Given the description of an element on the screen output the (x, y) to click on. 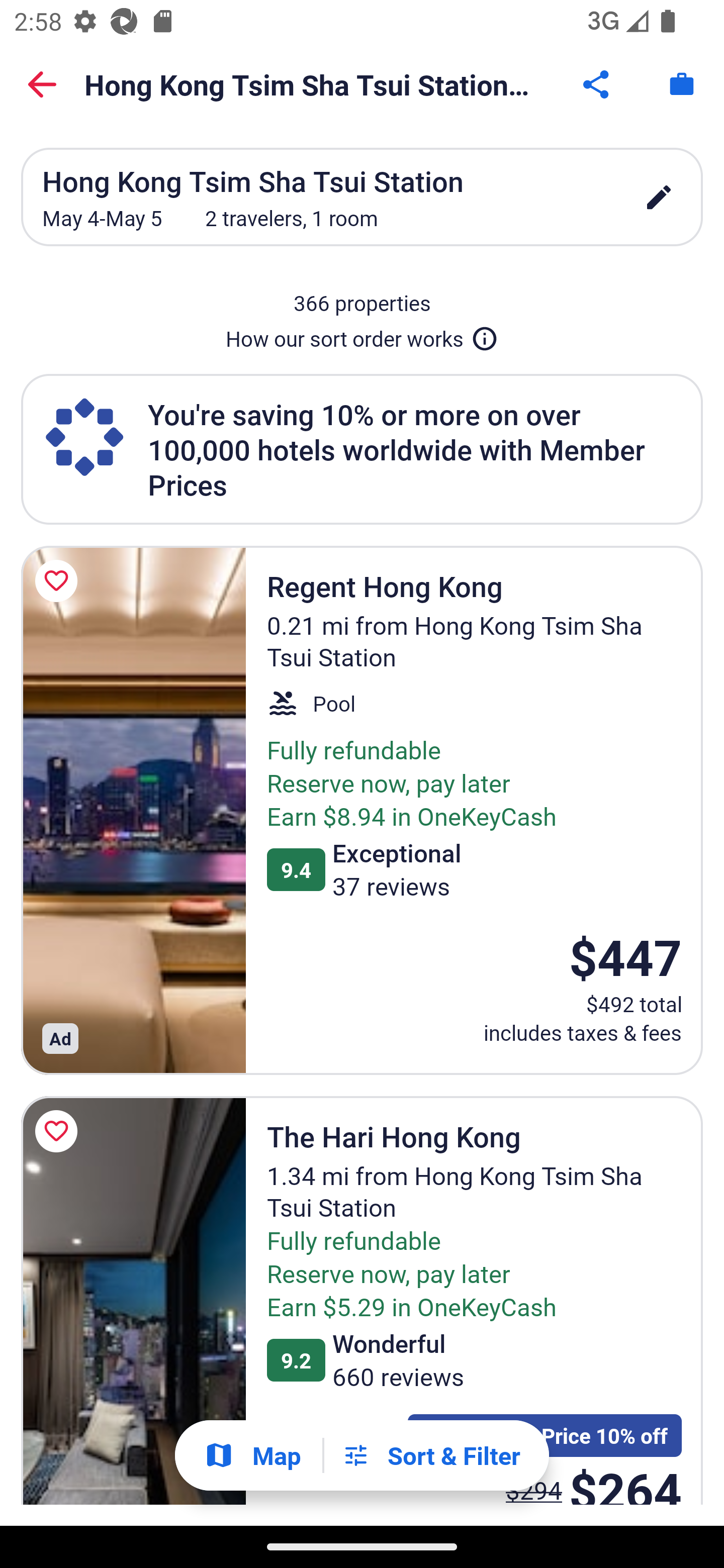
Back (42, 84)
Share Button (597, 84)
Trips. Button (681, 84)
How our sort order works (361, 334)
Save Regent Hong Kong to a trip (59, 580)
Regent Hong Kong (133, 810)
Save The Hari Hong Kong to a trip (59, 1130)
The Hari Hong Kong (133, 1300)
Filters Sort & Filter Filters Button (430, 1455)
Show map Map Show map Button (252, 1455)
